Given the description of an element on the screen output the (x, y) to click on. 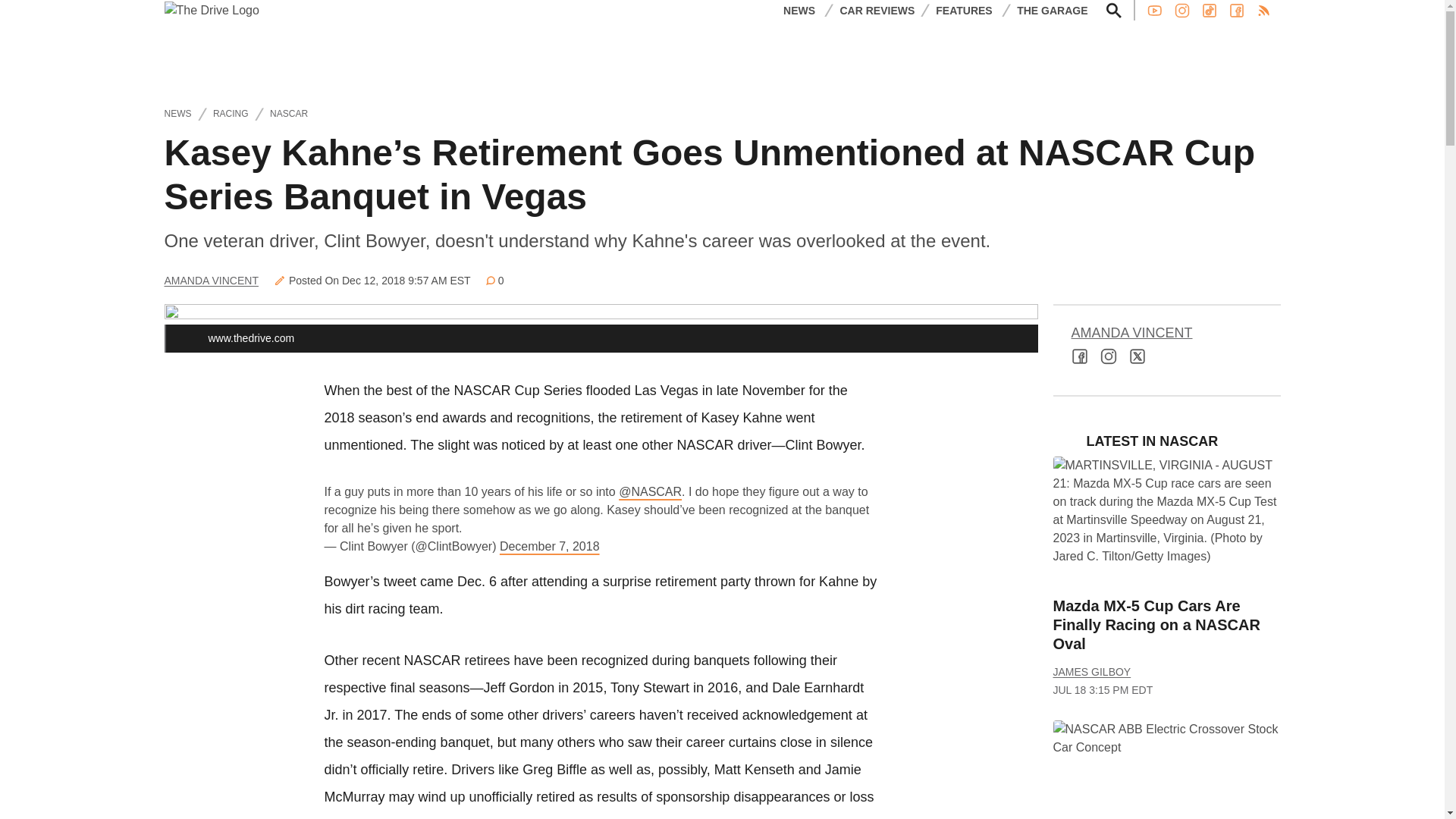
NEWS (799, 9)
